Given the description of an element on the screen output the (x, y) to click on. 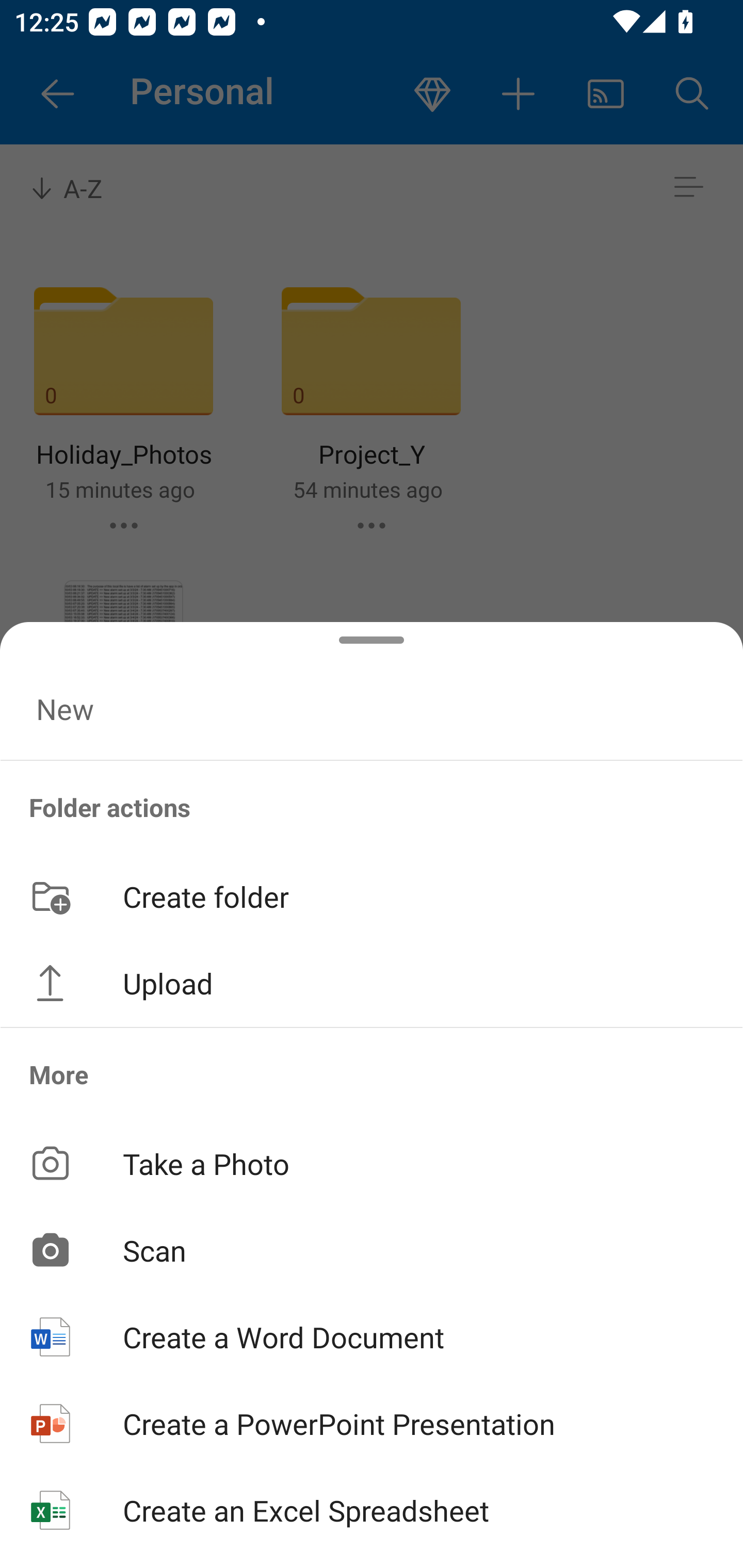
Create folder button Create folder (371, 895)
Upload button Upload (371, 983)
Take a Photo button Take a Photo (371, 1163)
Scan button Scan (371, 1250)
